Given the description of an element on the screen output the (x, y) to click on. 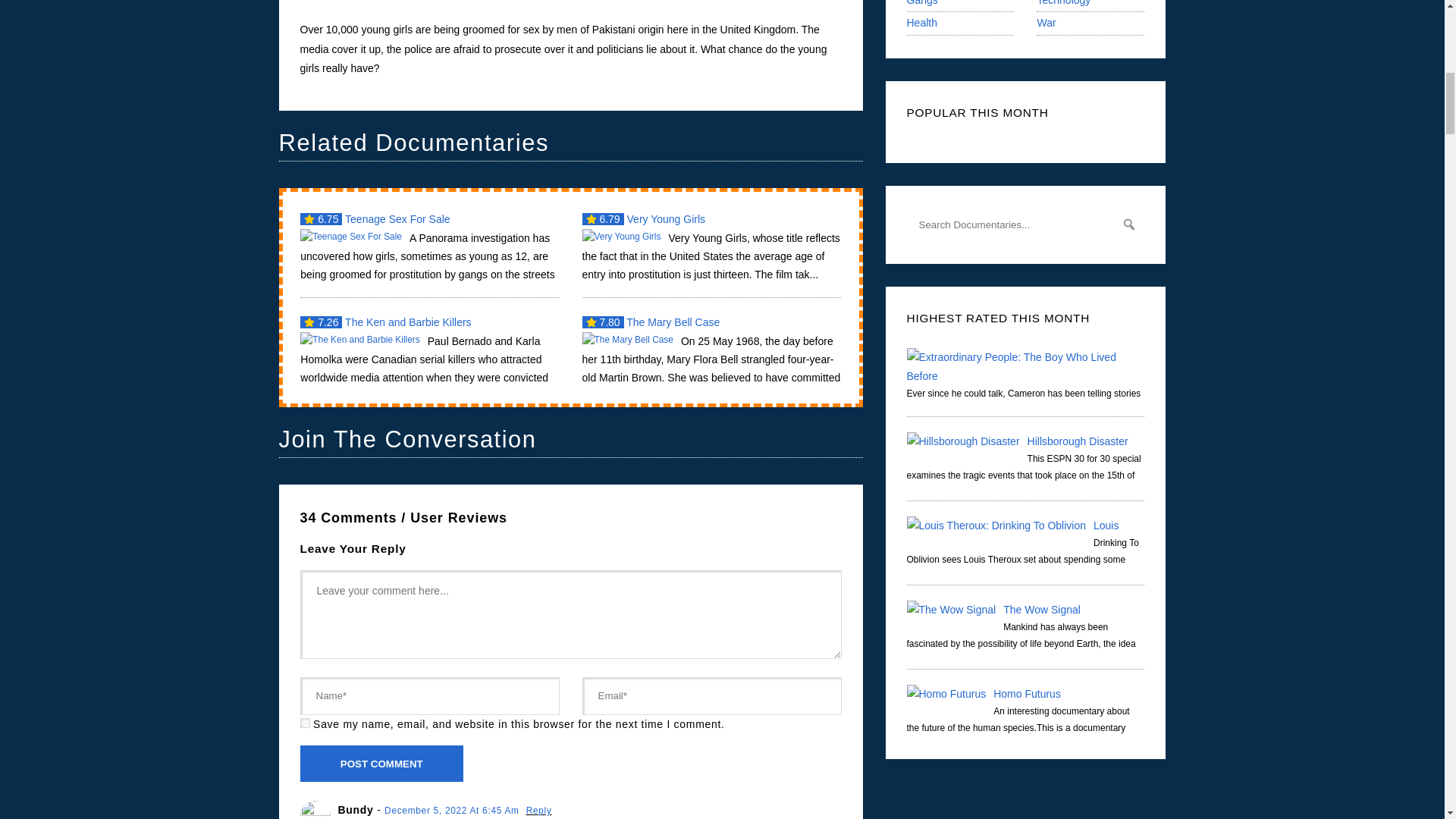
Very Young Girls (711, 245)
December 5, 2022 At 6:45 Am (453, 810)
Post Comment (381, 763)
The Ken and Barbie Killers (429, 348)
yes (304, 723)
Reply (538, 810)
Teenage Sex For Sale (429, 245)
Post Comment (381, 763)
